Given the description of an element on the screen output the (x, y) to click on. 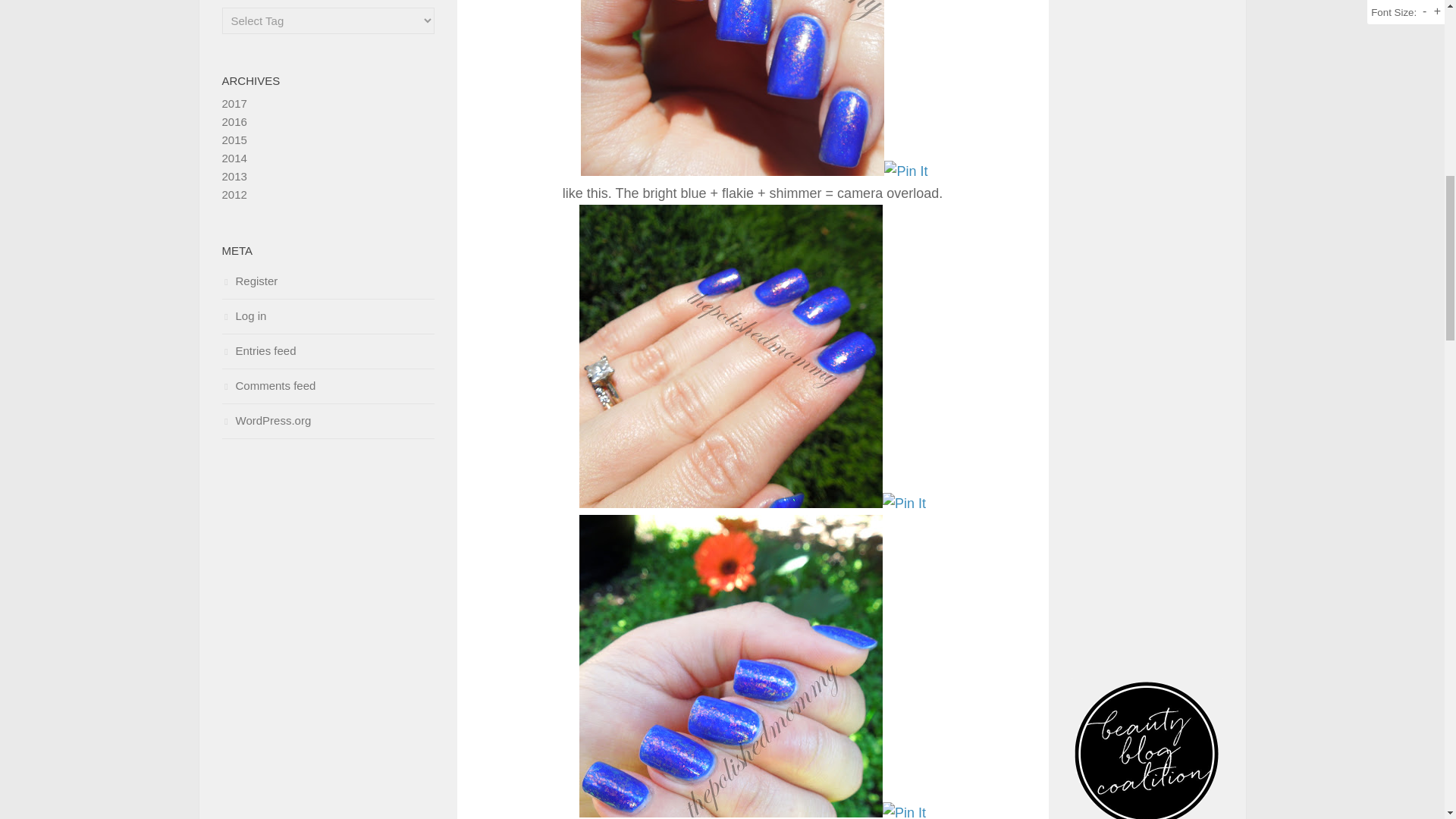
Pin It (905, 171)
Pin It (904, 504)
Pin It (904, 810)
